Given the description of an element on the screen output the (x, y) to click on. 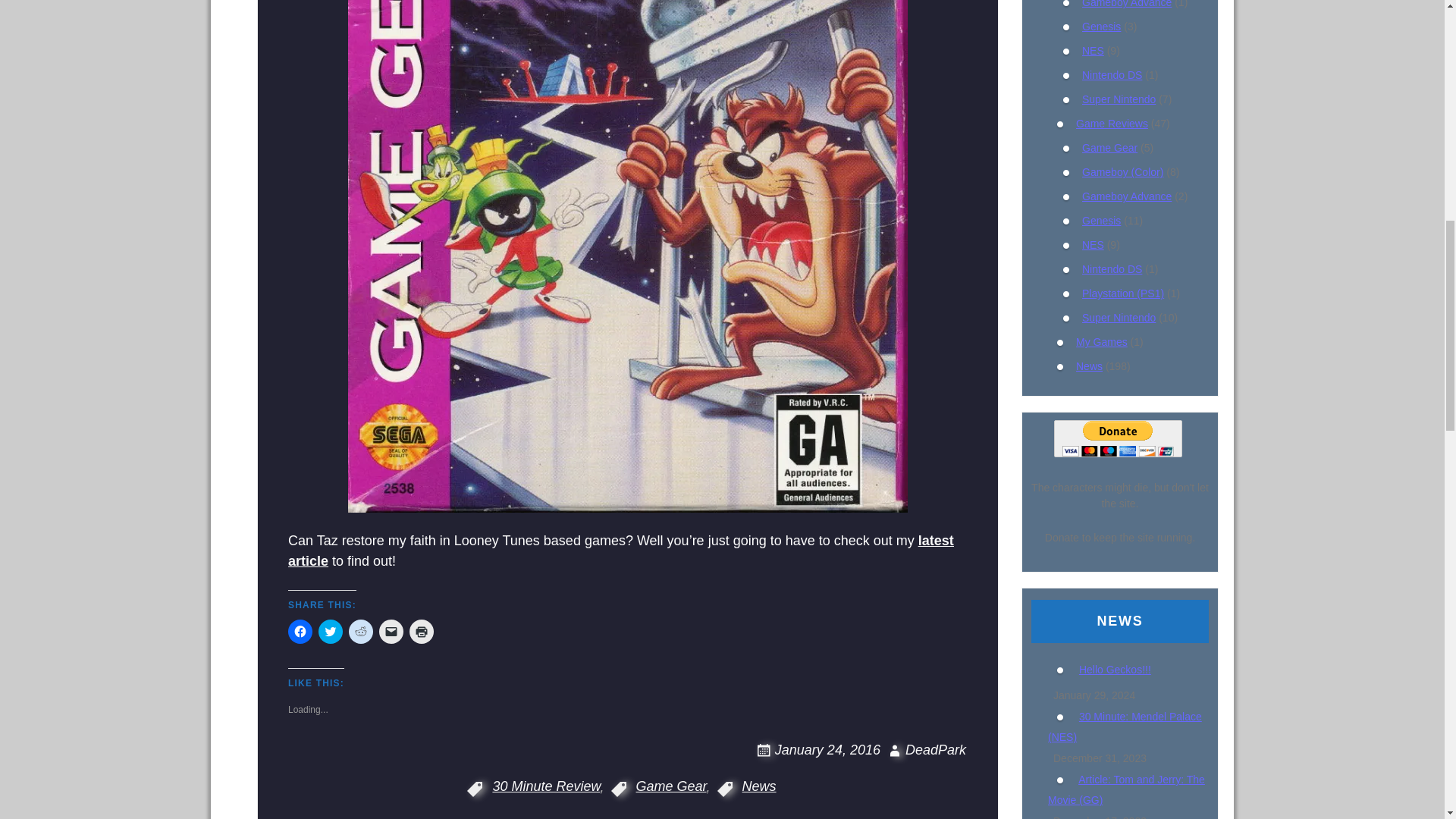
Game Gear (1109, 147)
Nintendo DS (1111, 268)
Click to share on Reddit (360, 631)
Click to print (421, 631)
NES (1092, 50)
Gameboy Advance (1126, 4)
Genesis (1101, 220)
Game Reviews (1111, 123)
Genesis (1101, 26)
NES (1092, 244)
Click to share on Twitter (330, 631)
Nintendo DS (1111, 74)
Super Nintendo (1118, 99)
Gameboy Advance (1126, 196)
Click to share on Facebook (300, 631)
